Given the description of an element on the screen output the (x, y) to click on. 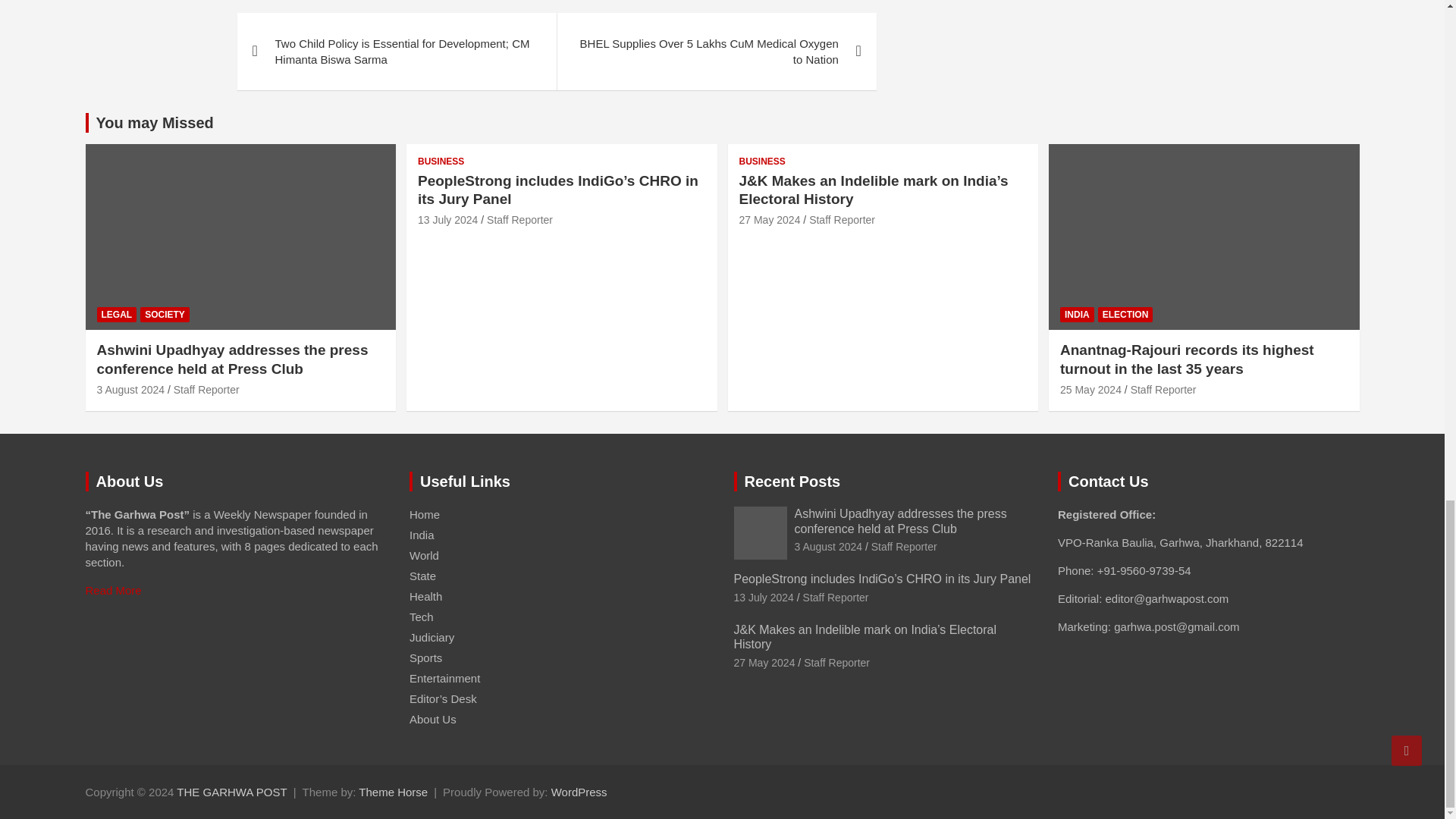
BHEL Supplies Over 5 Lakhs CuM Medical Oxygen to Nation (716, 51)
